Given the description of an element on the screen output the (x, y) to click on. 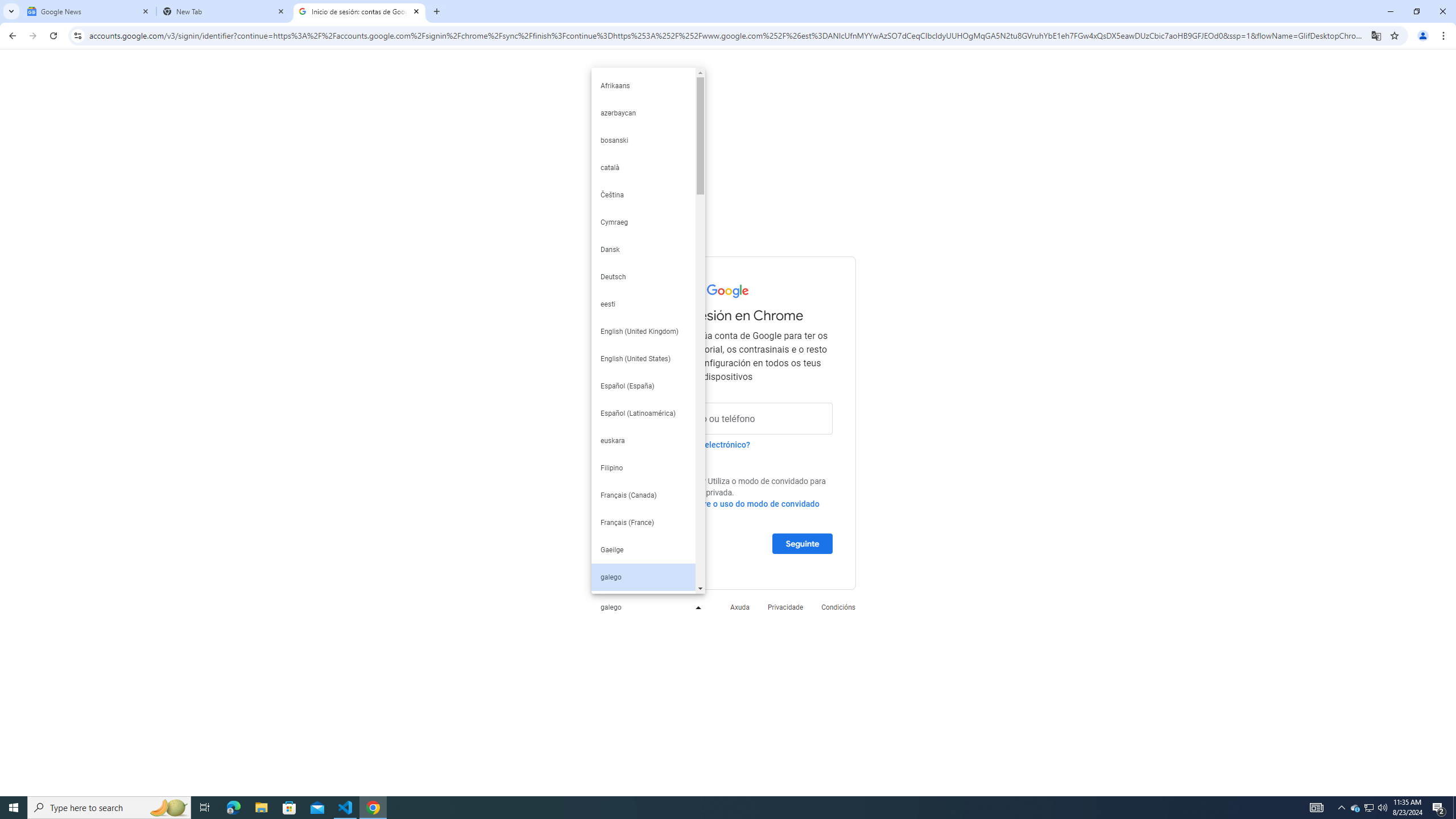
Translate this page (1376, 35)
Close (415, 11)
Restore (1416, 11)
Privacidade (785, 606)
Chrome (1445, 35)
You (1422, 35)
euskara (643, 440)
Filipino (643, 467)
New Tab (436, 11)
Google News (88, 11)
Back (10, 35)
